Given the description of an element on the screen output the (x, y) to click on. 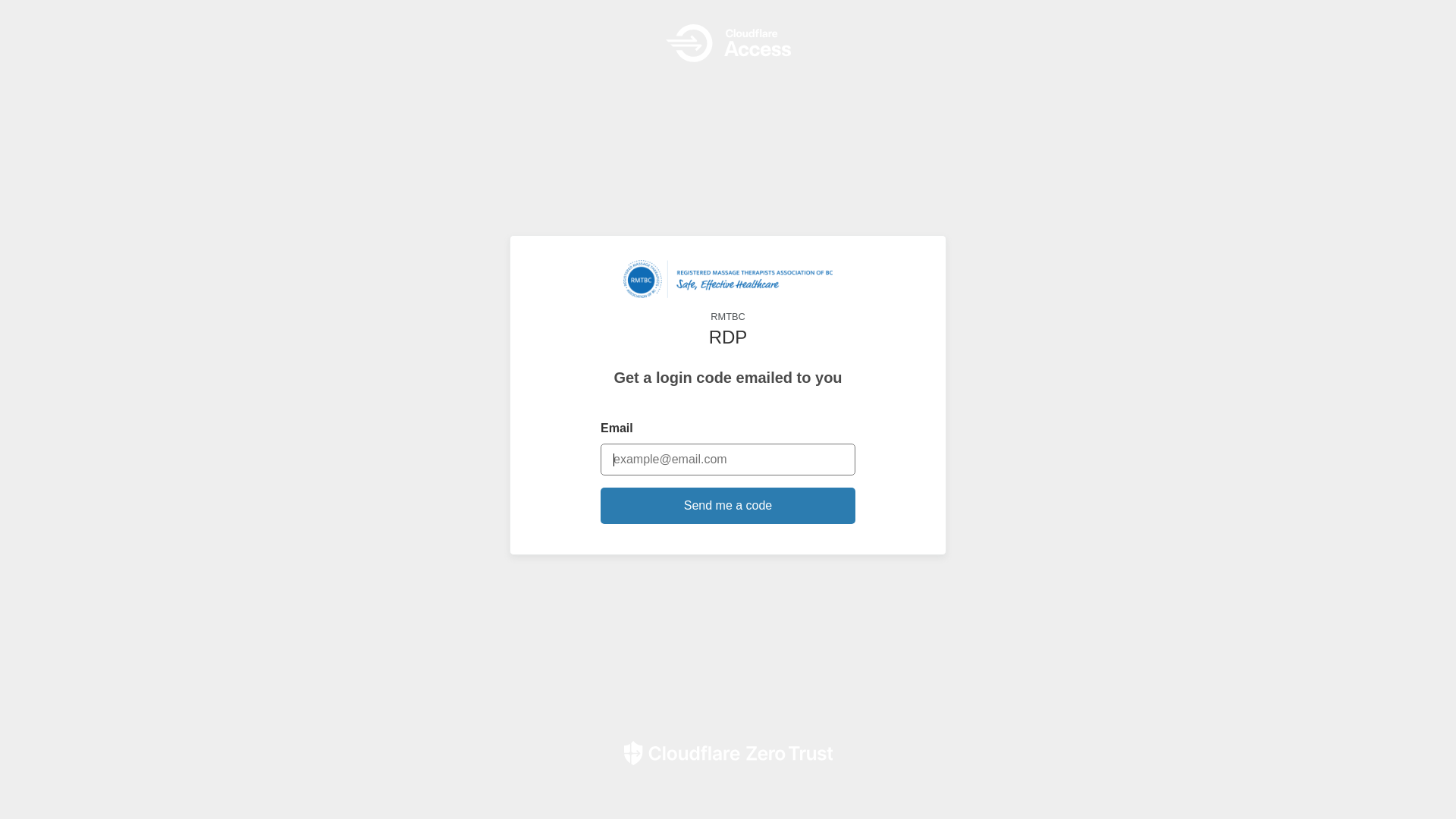
RMTBC Element type: text (727, 291)
Send me a code Element type: text (727, 505)
